Given the description of an element on the screen output the (x, y) to click on. 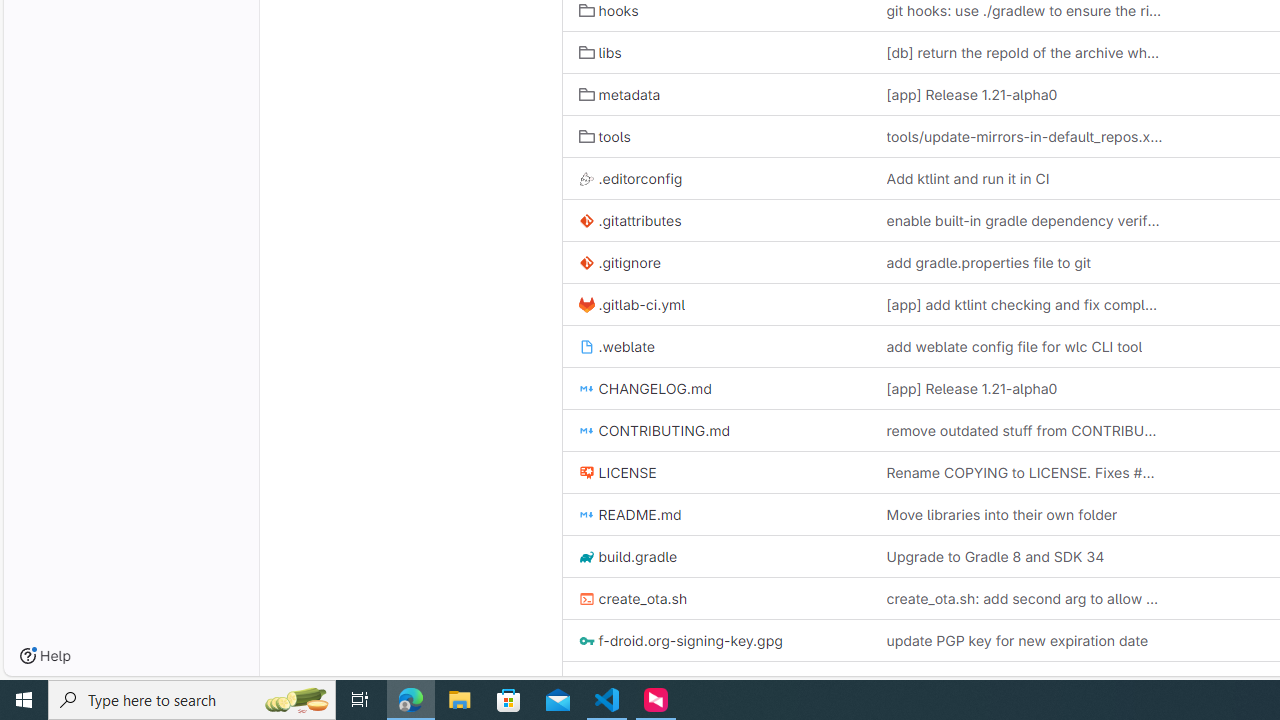
CONTRIBUTING.md (715, 430)
.gitignore (715, 262)
enable built-in gradle dependency verification (1024, 220)
[app] add ktlint checking and fix complaints it has (1024, 304)
README.md (630, 514)
add weblate config file for wlc CLI tool (1024, 345)
[app] Release 1.21-alpha0 (1024, 388)
add gradle.properties file to git (987, 262)
enable built-in gradle dependency verification (1024, 219)
.gitattributes (630, 220)
